Given the description of an element on the screen output the (x, y) to click on. 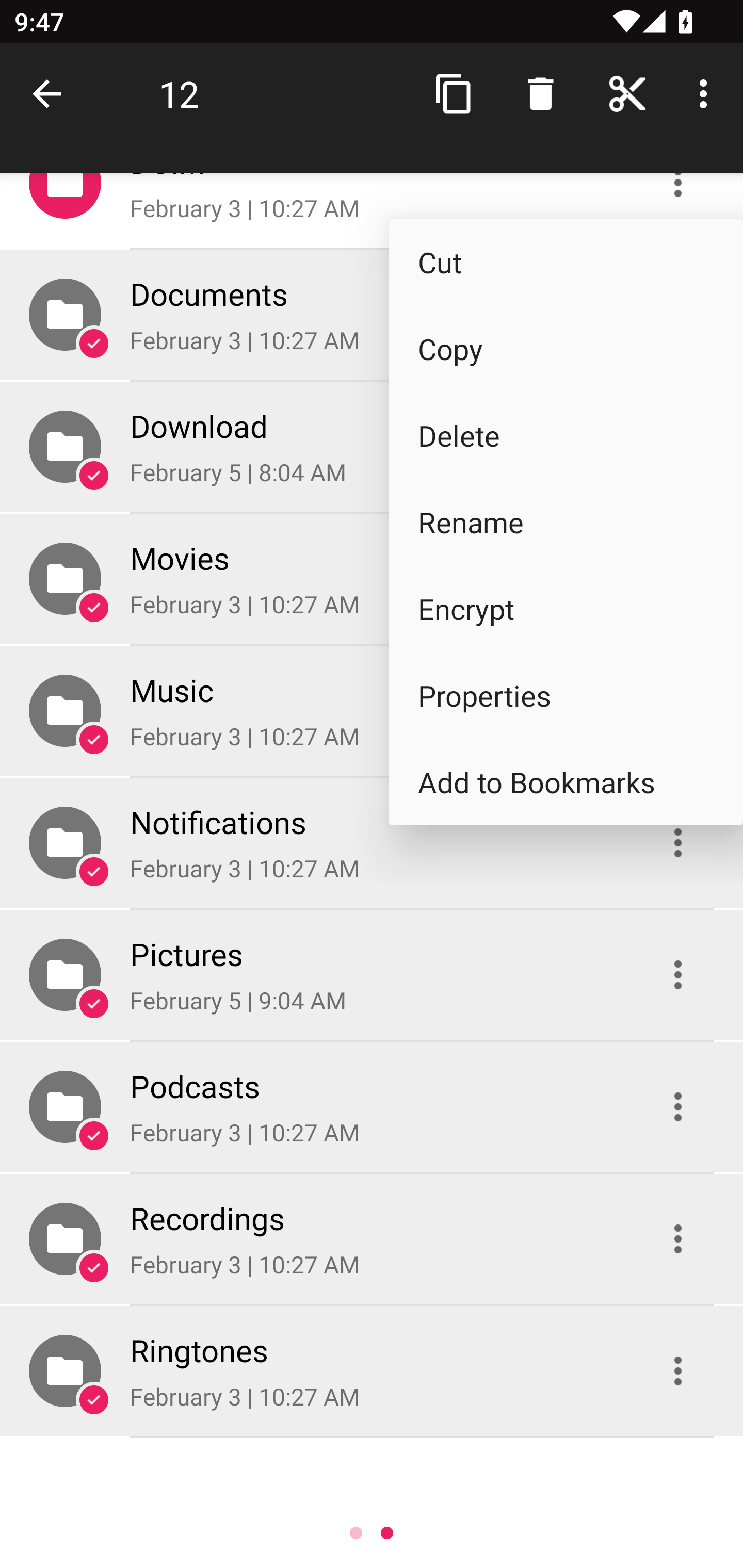
Cut (566, 261)
Copy (566, 348)
Delete (566, 435)
Rename (566, 522)
Encrypt (566, 609)
Properties (566, 695)
Add to Bookmarks (566, 781)
